Given the description of an element on the screen output the (x, y) to click on. 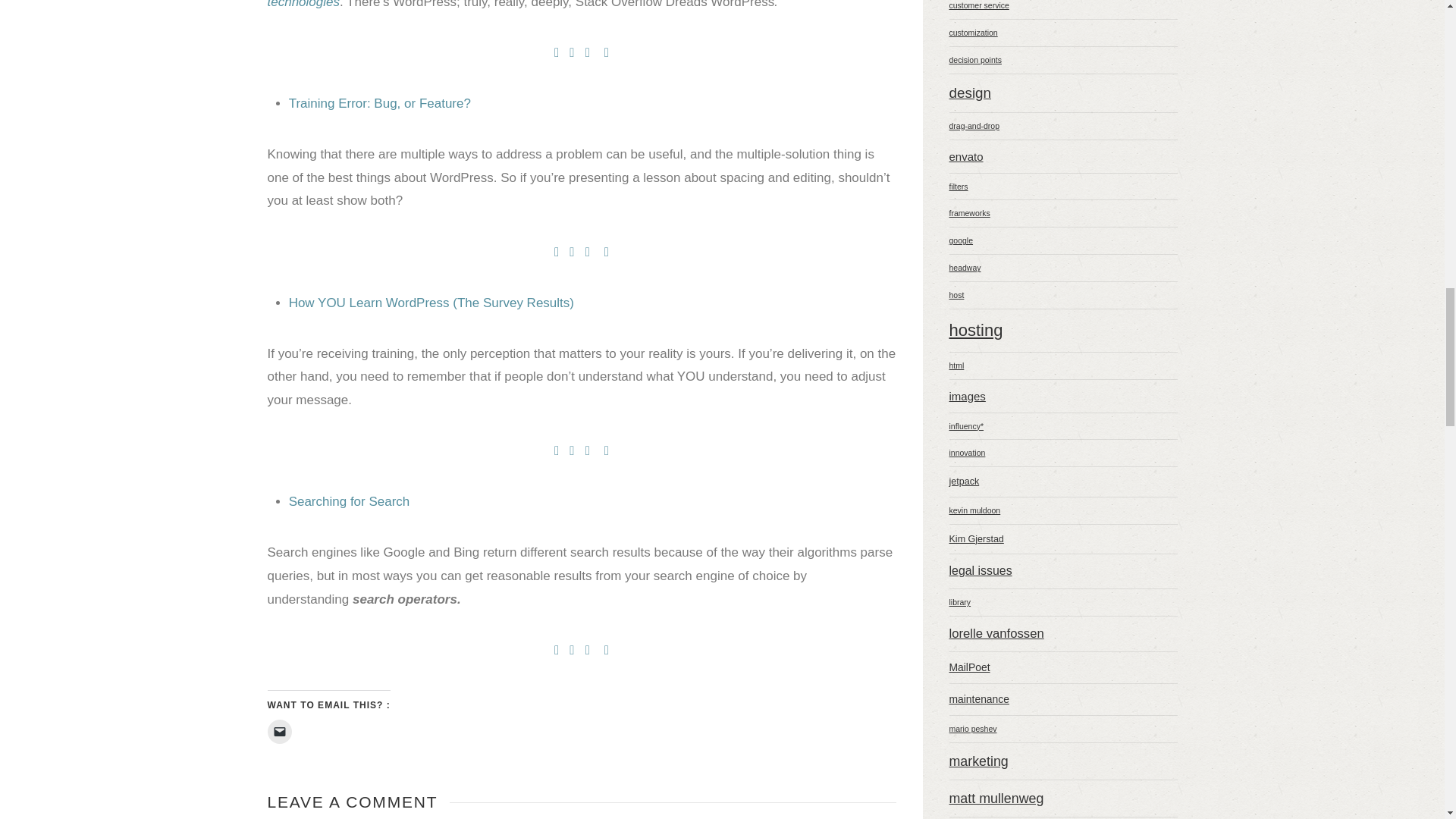
How You Learn WordPress Survey Results (430, 302)
WordPress Training Errors (379, 103)
